Given the description of an element on the screen output the (x, y) to click on. 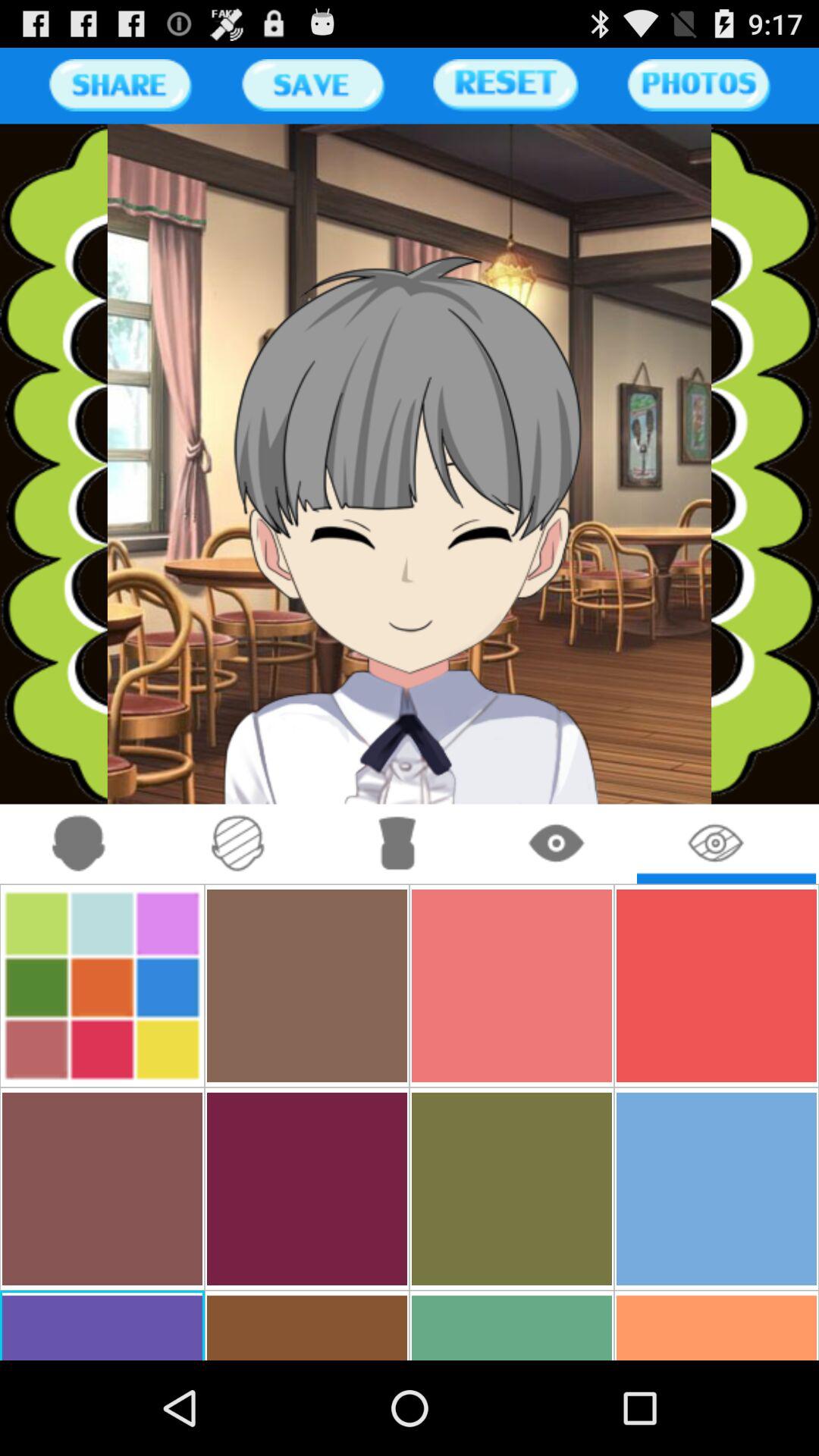
save button (312, 85)
